Given the description of an element on the screen output the (x, y) to click on. 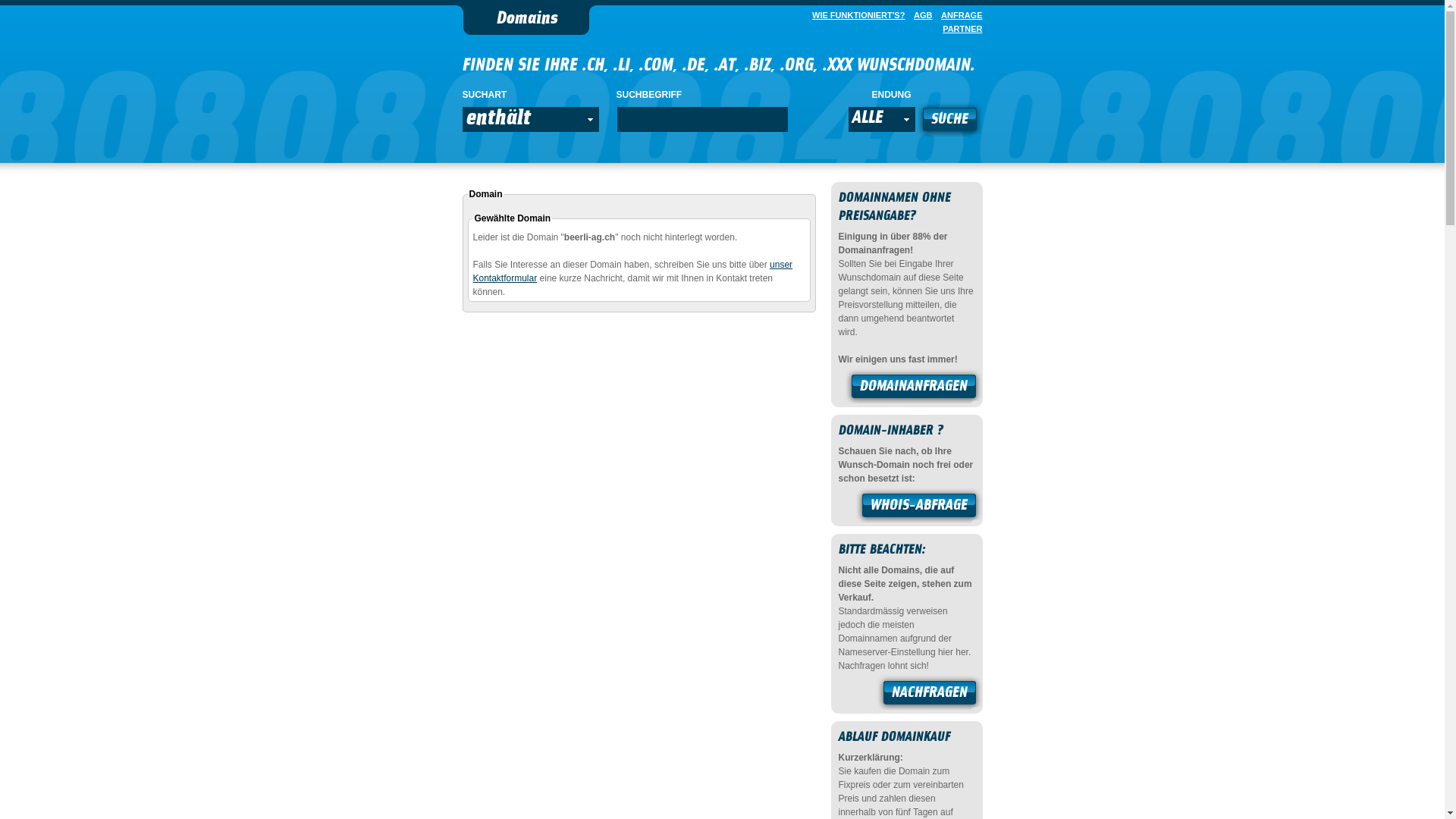
WHOIS-ABFRAGE Element type: text (918, 507)
Domains Element type: text (526, 19)
ANFRAGE Element type: text (958, 14)
SUCHE Element type: text (949, 121)
DOMAINANFRAGEN Element type: text (913, 387)
NACHFRAGEN Element type: text (929, 694)
AGB Element type: text (919, 14)
unser Kontaktformular Element type: text (633, 271)
WIE FUNKTIONIERT'S? Element type: text (855, 14)
PARTNER Element type: text (959, 28)
